Given the description of an element on the screen output the (x, y) to click on. 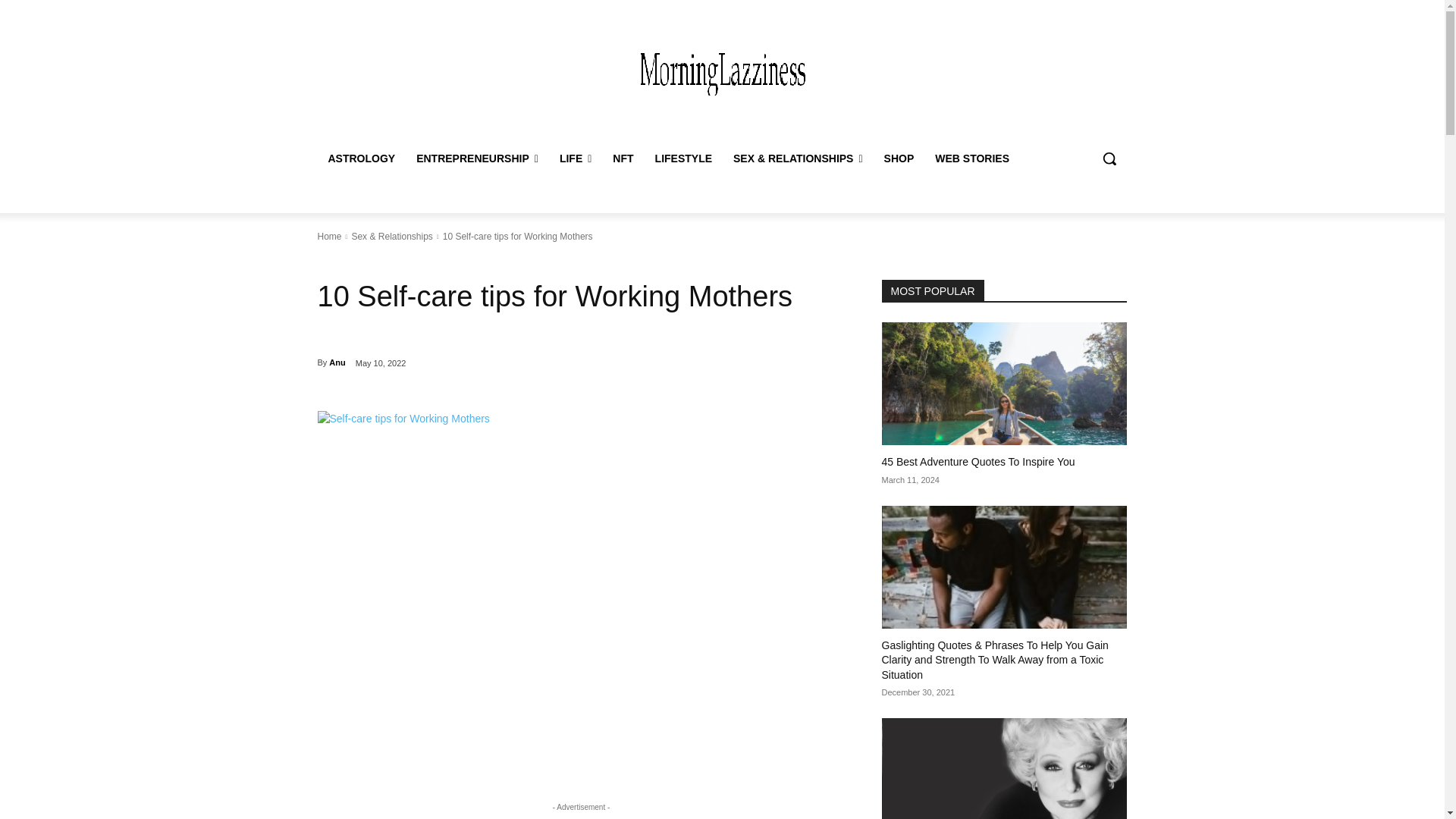
LIFESTYLE (683, 158)
LIFE (575, 158)
ENTREPRENEURSHIP (477, 158)
NFT (622, 158)
SHOP (898, 158)
ASTROLOGY (361, 158)
WEB STORIES (972, 158)
